Given the description of an element on the screen output the (x, y) to click on. 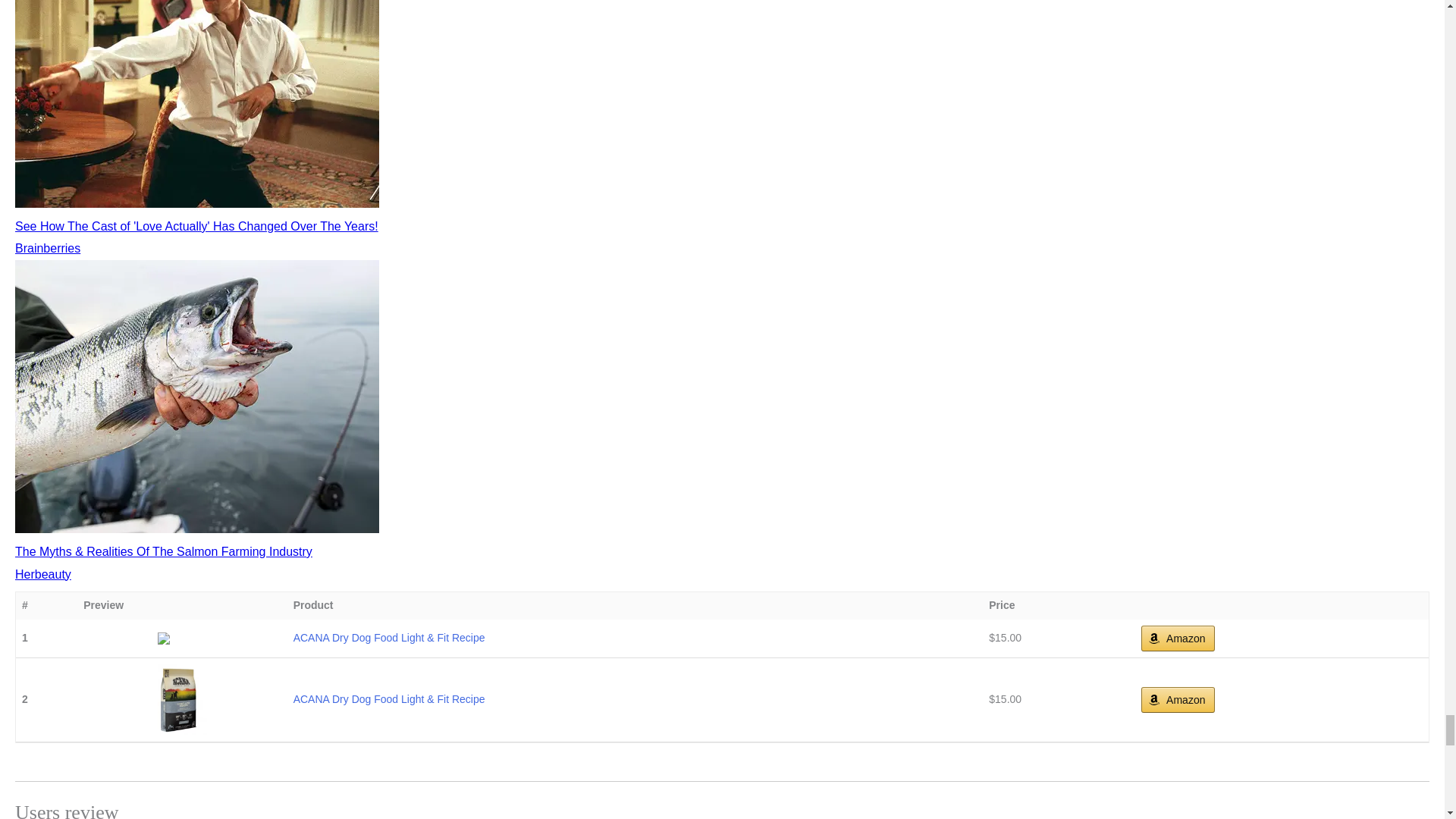
Amazon (1177, 638)
